Given the description of an element on the screen output the (x, y) to click on. 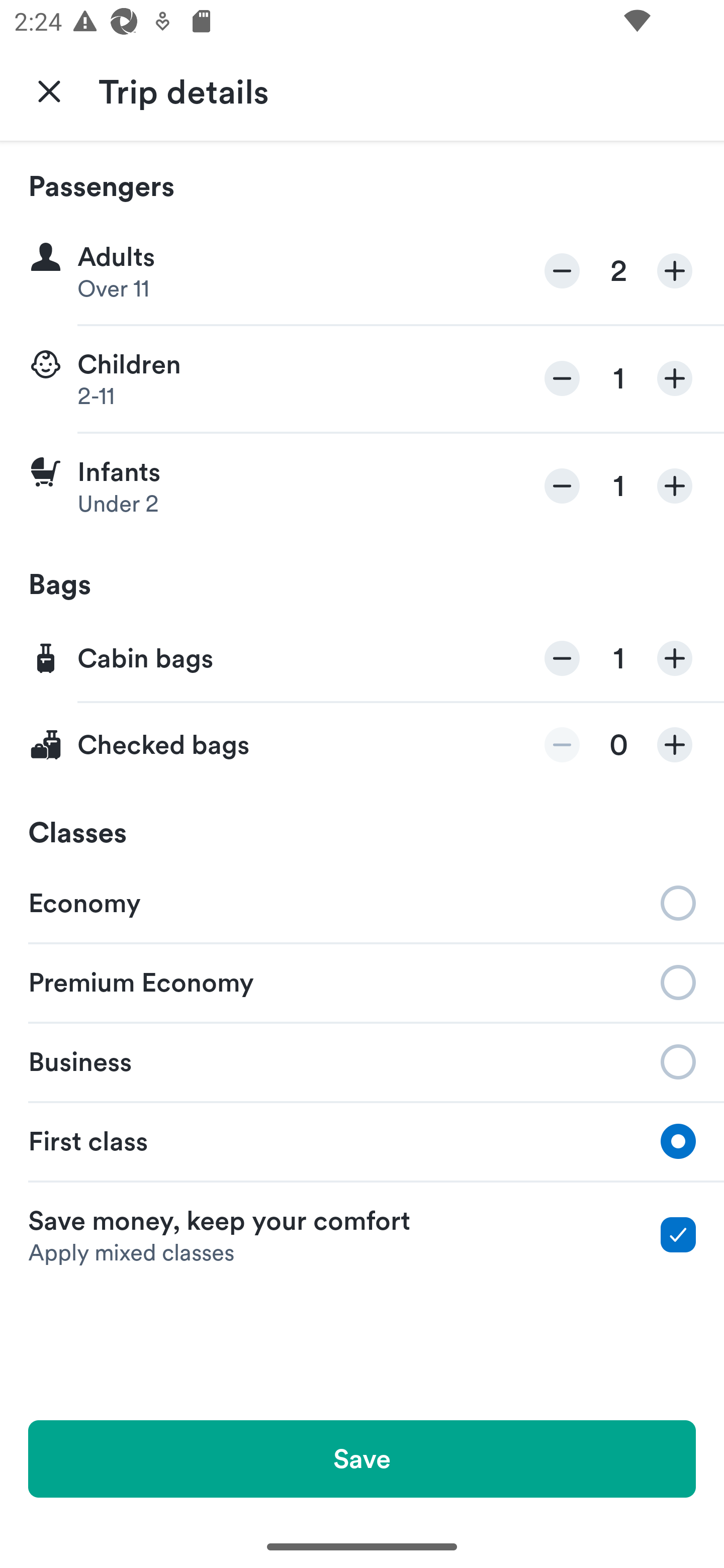
Navigate up (49, 90)
Remove 2 Add Adults Over 11 (362, 271)
Remove (561, 270)
Add (674, 270)
Remove 1 Add Children 2-11 (362, 379)
Remove (561, 377)
Add (674, 377)
Remove 1 Add Infants Under 2 (362, 485)
Remove (561, 485)
Add (674, 485)
Remove 1 Add Cabin bags (362, 659)
Remove (561, 658)
Add (674, 658)
Remove 0 Add Checked bags (362, 744)
Remove (561, 744)
Add (674, 744)
Economy (362, 901)
Premium Economy (362, 980)
Business (362, 1060)
Save (361, 1458)
